Given the description of an element on the screen output the (x, y) to click on. 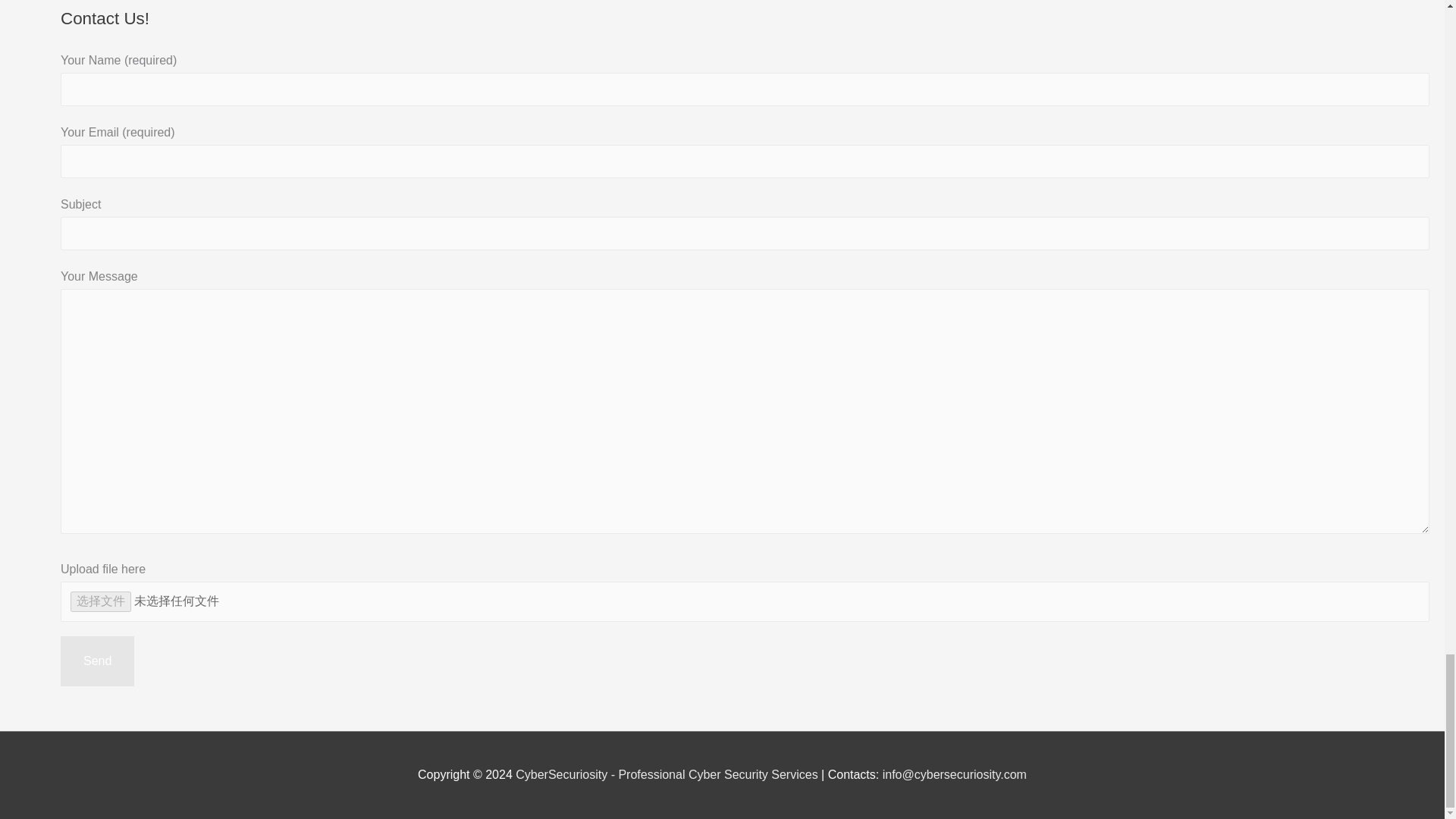
CyberSecuriosity - Professional Cyber Security Services (665, 774)
Send (97, 661)
Send (97, 661)
